Given the description of an element on the screen output the (x, y) to click on. 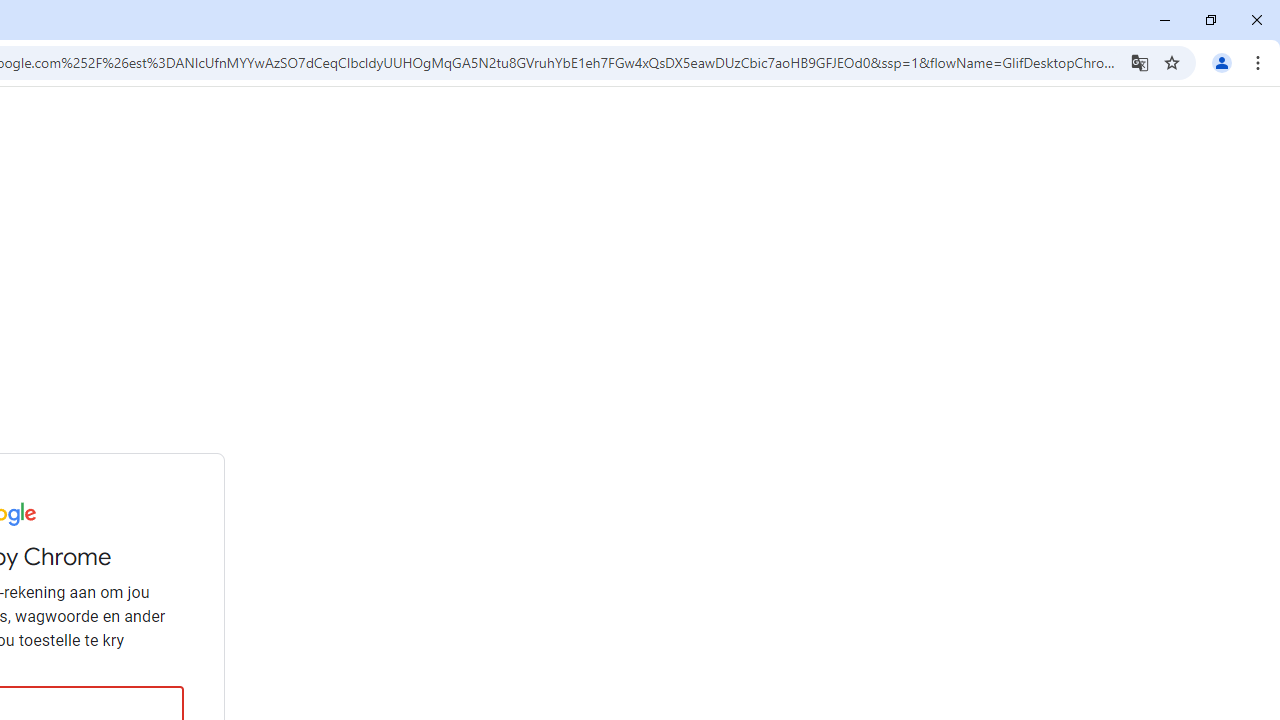
Translate this page (1139, 62)
